Given the description of an element on the screen output the (x, y) to click on. 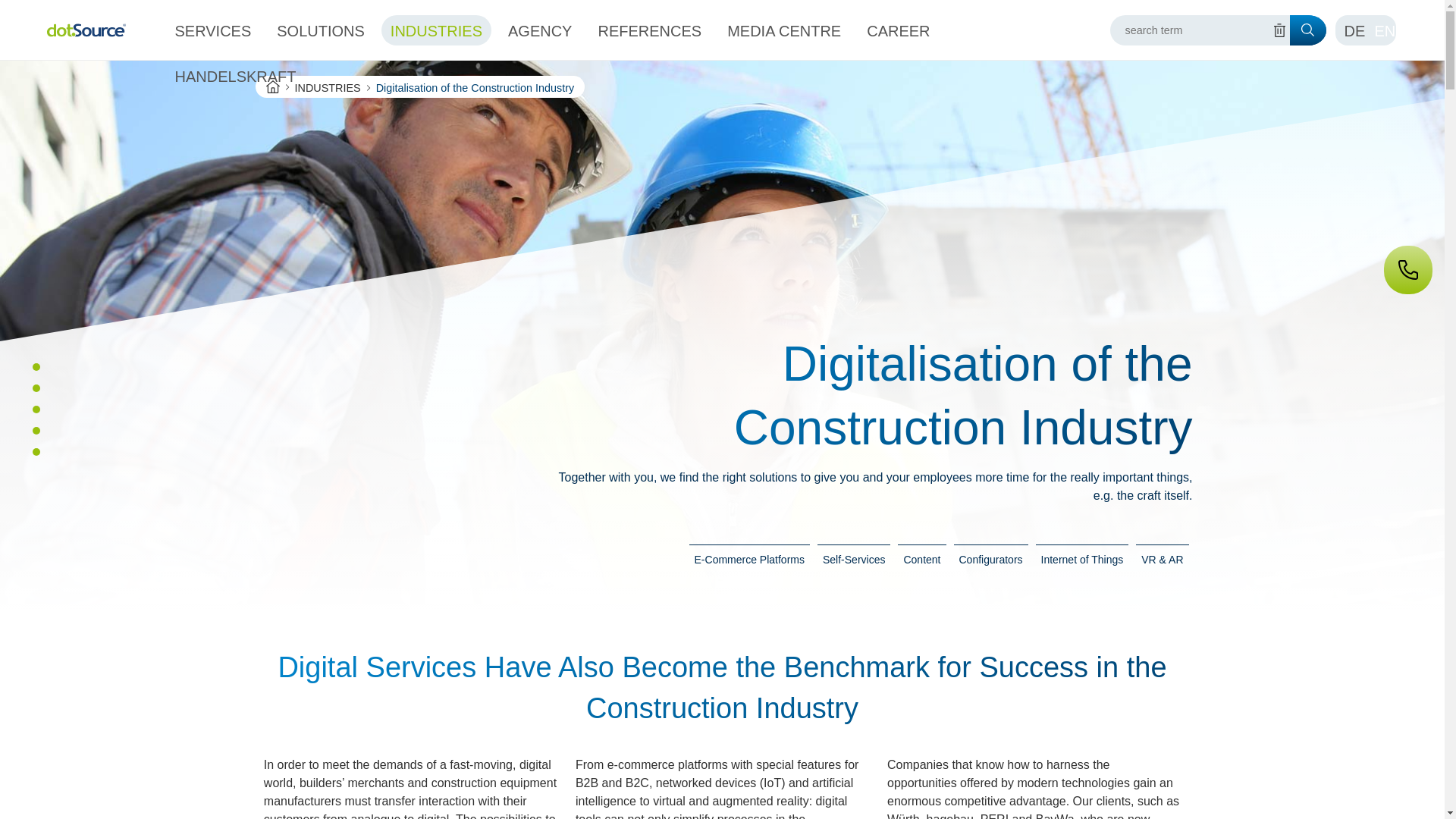
SOLUTIONS (320, 30)
Solutions (320, 30)
SERVICES (212, 30)
dotSource - your digital agency (86, 30)
Services (212, 30)
